Given the description of an element on the screen output the (x, y) to click on. 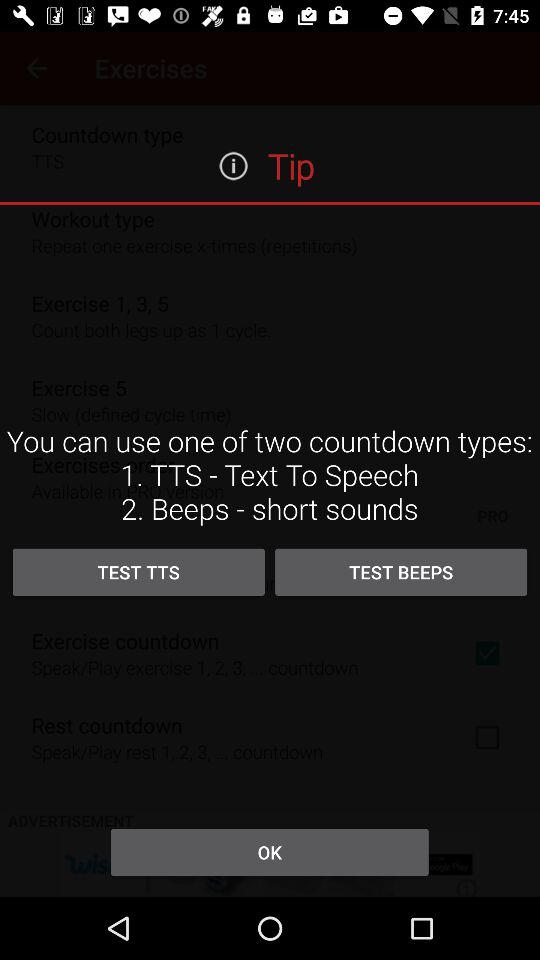
flip to the test beeps item (401, 571)
